Given the description of an element on the screen output the (x, y) to click on. 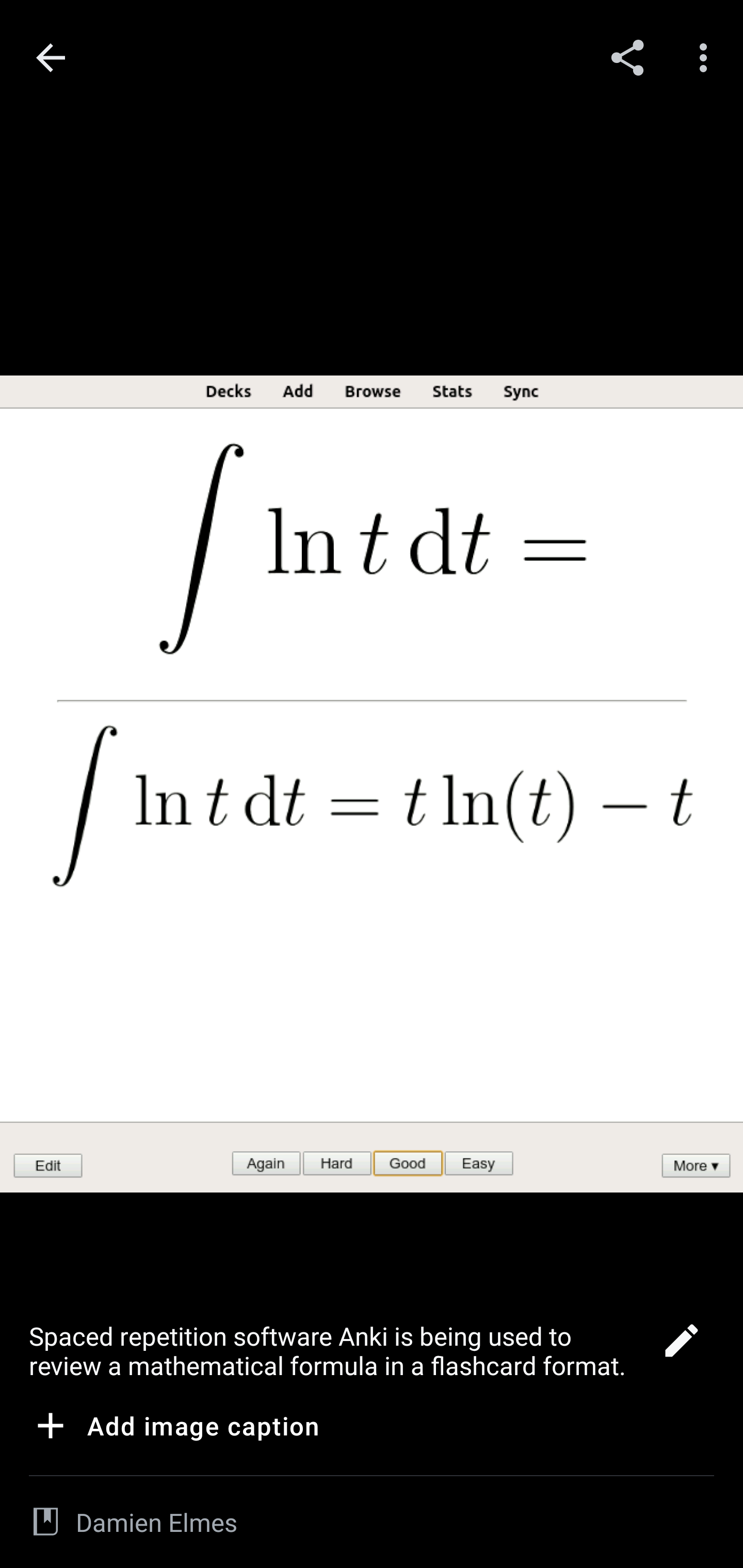
Navigate up (50, 57)
Share (626, 57)
More options (706, 57)
Edit image caption (681, 1345)
Add image caption (174, 1428)
GPL (44, 1521)
